Given the description of an element on the screen output the (x, y) to click on. 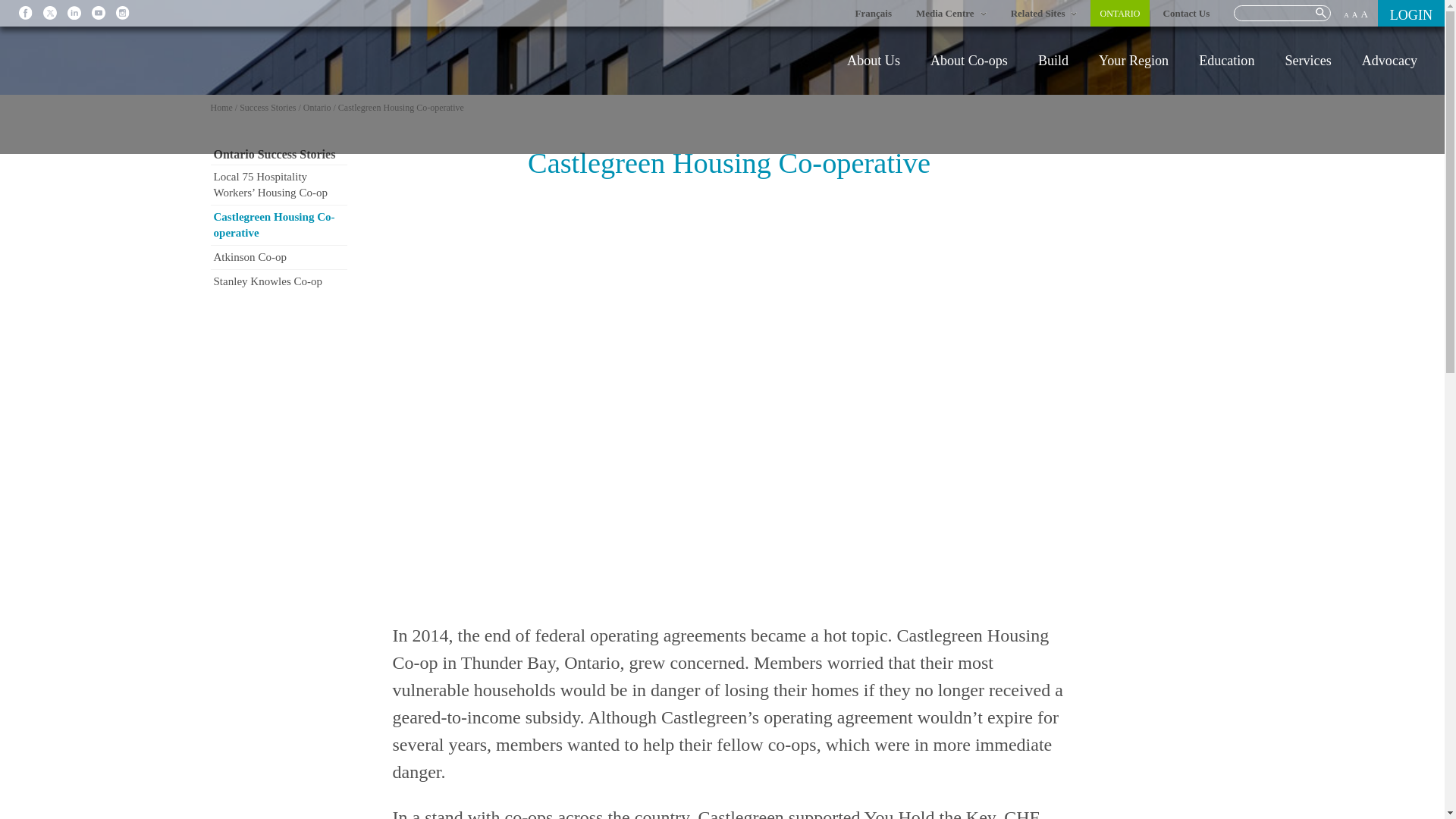
Go to Success Stories. (267, 107)
Go to CHF Canada. (221, 107)
Atkinson Co-op (278, 257)
Stanley Knowles Co-op (278, 281)
Go to the Ontario Success Stories archives. (316, 107)
Castlegreen Housing Co-operative (278, 224)
